Given the description of an element on the screen output the (x, y) to click on. 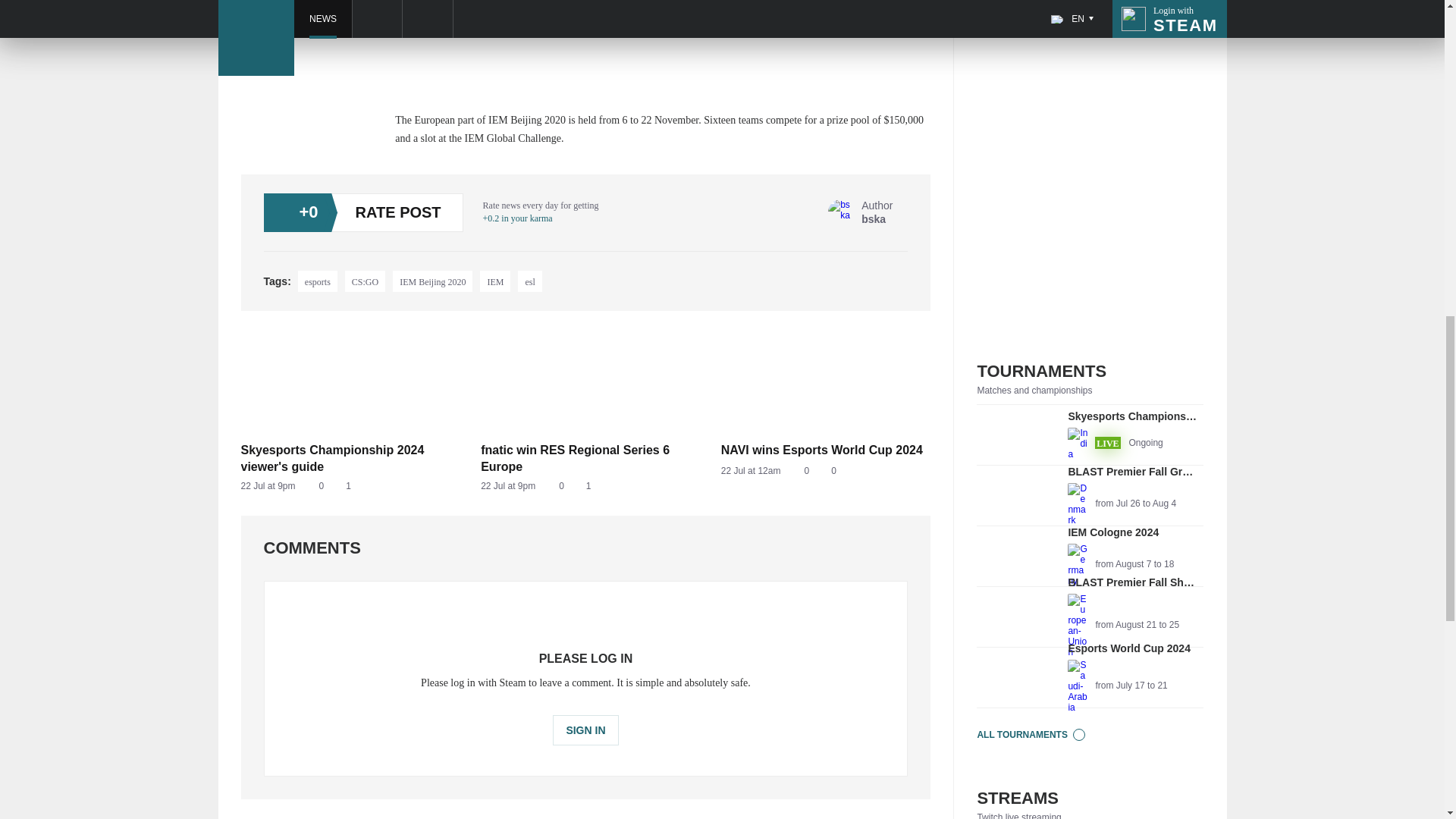
IEM Beijing 2020 (432, 281)
CS:GO (585, 486)
fnatic win RES Regional Series 6 Europe (365, 281)
esports (1090, 556)
esl (1090, 496)
IEM (585, 458)
Skyesports Championship 2024 viewer's guide (317, 281)
NAVI wins Esports World Cup 2024 (529, 281)
